Given the description of an element on the screen output the (x, y) to click on. 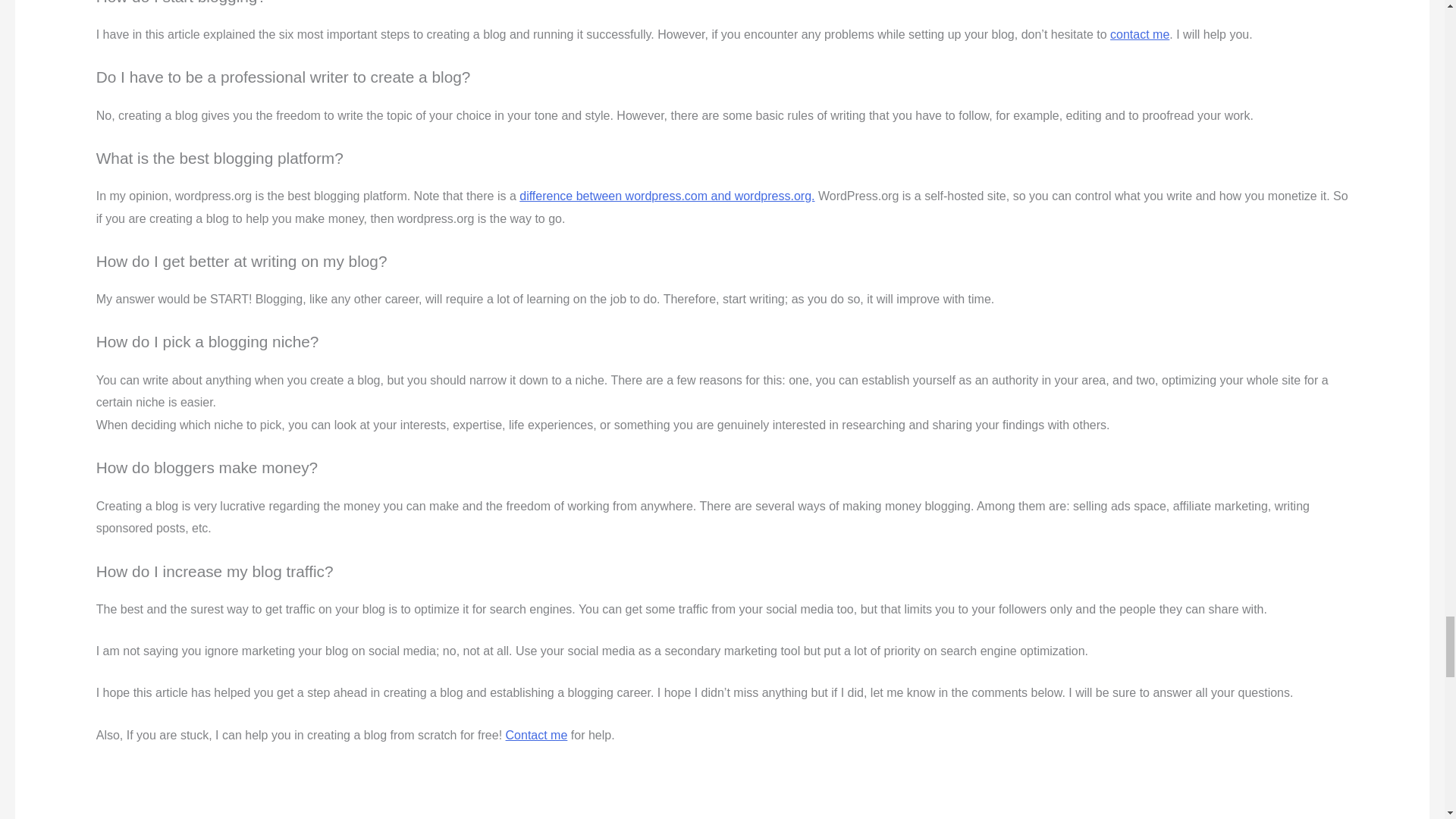
contact me (1139, 33)
Contact me (536, 735)
difference between wordpress.com and wordpress.org. (666, 195)
